Given the description of an element on the screen output the (x, y) to click on. 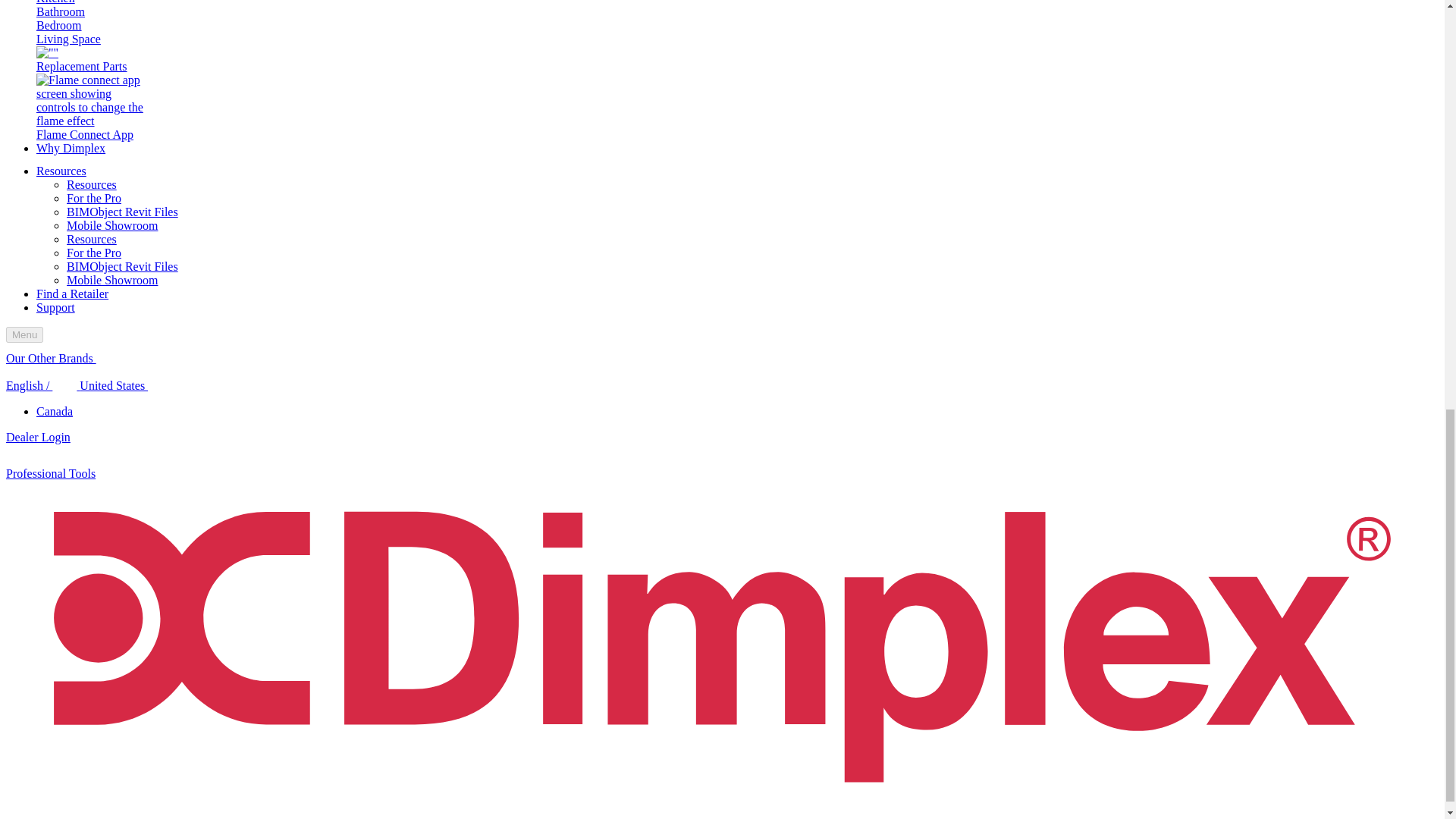
Discover Dimplex though the one-of-a-kind Mobile Showroom! (111, 225)
Discover Dimplex though the one-of-a-kind Mobile Showroom! (111, 279)
Our Other Brands (60, 358)
